Given the description of an element on the screen output the (x, y) to click on. 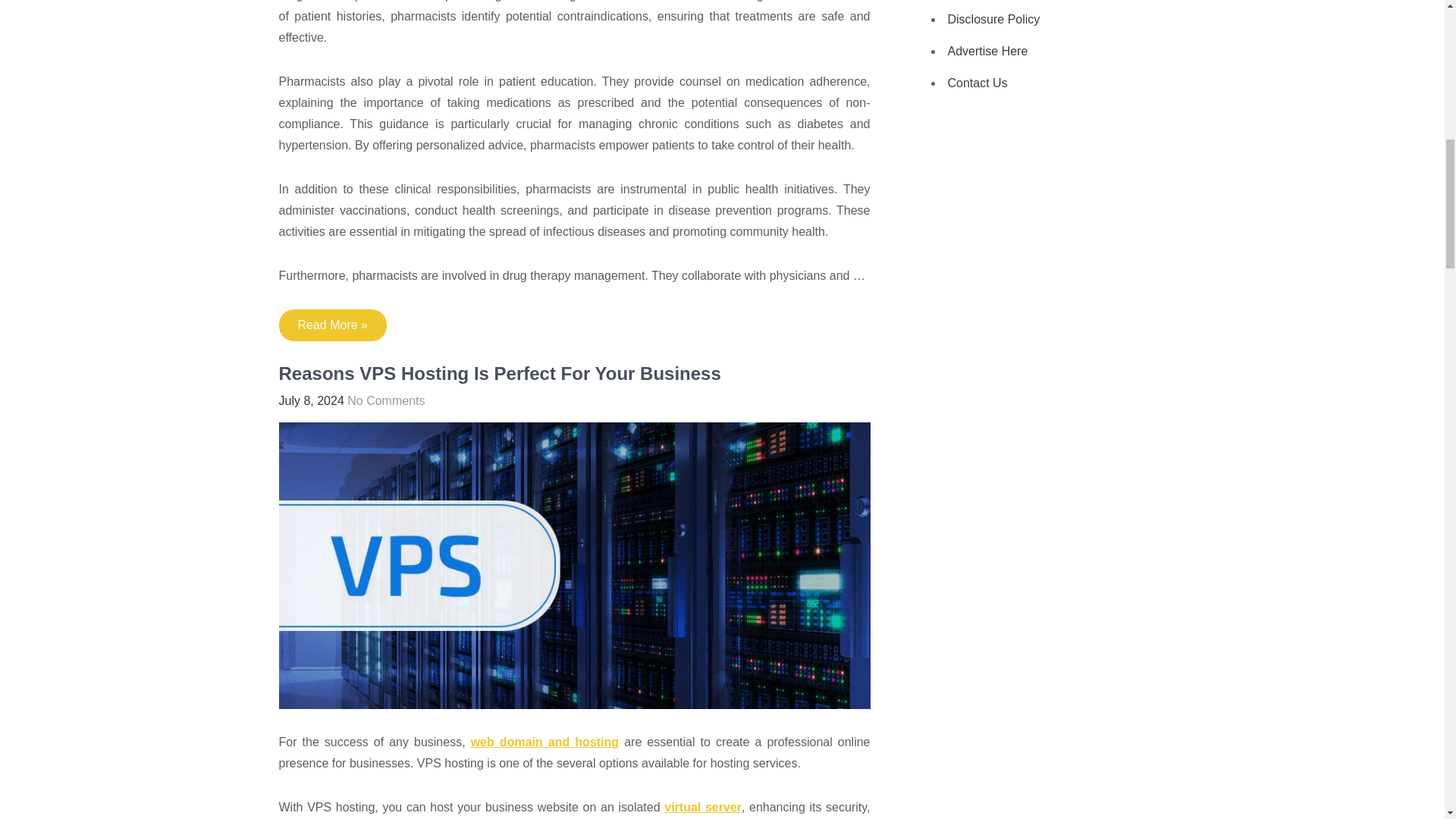
virtual server (702, 807)
No Comments (386, 400)
Reasons VPS Hosting Is Perfect For Your Business (499, 373)
web domain and hosting (544, 741)
